Given the description of an element on the screen output the (x, y) to click on. 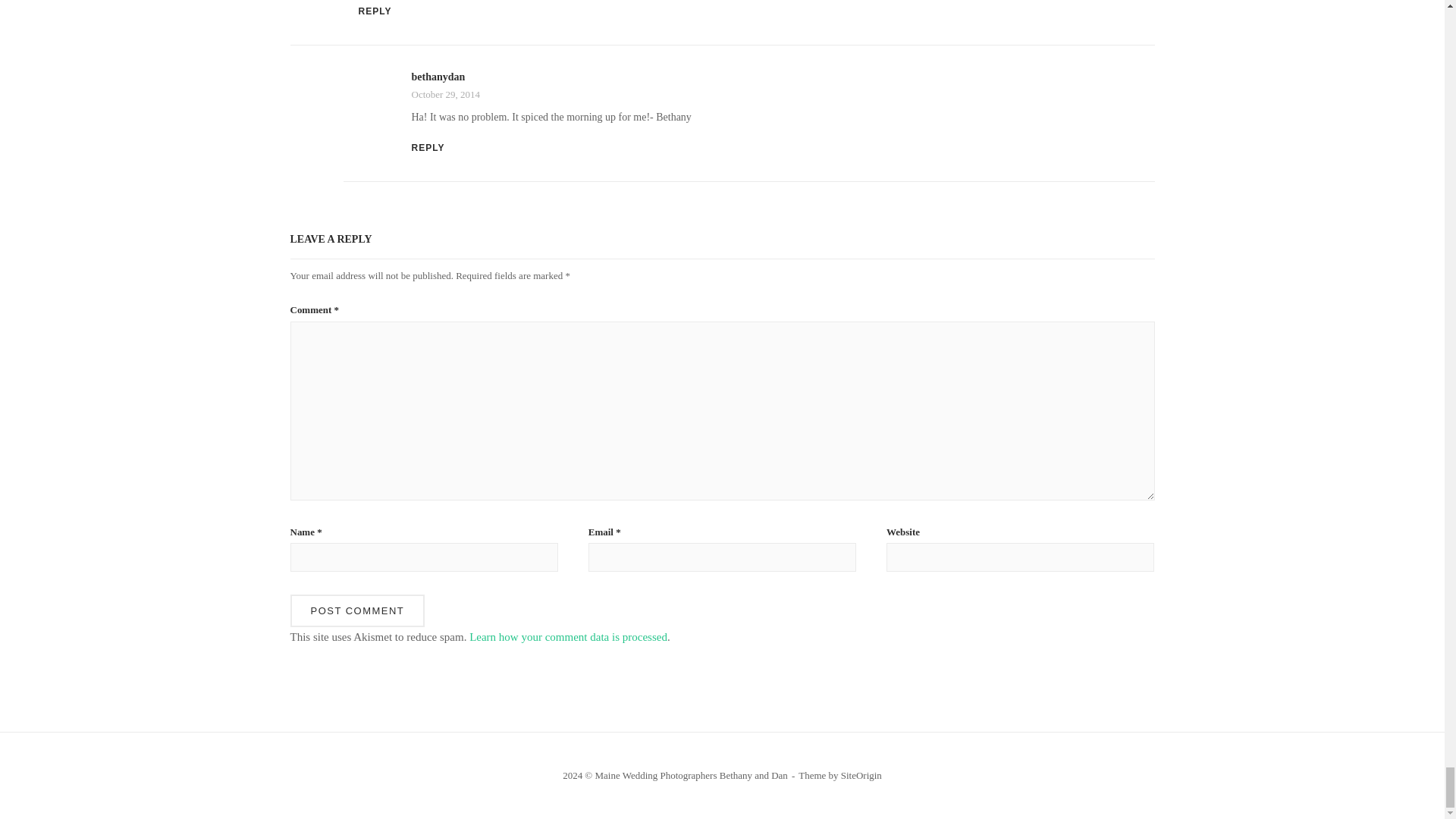
REPLY (374, 10)
SiteOrigin (861, 775)
Learn how your comment data is processed (567, 636)
REPLY (427, 147)
Post Comment (357, 610)
Post Comment (357, 610)
bethanydan (437, 76)
